Given the description of an element on the screen output the (x, y) to click on. 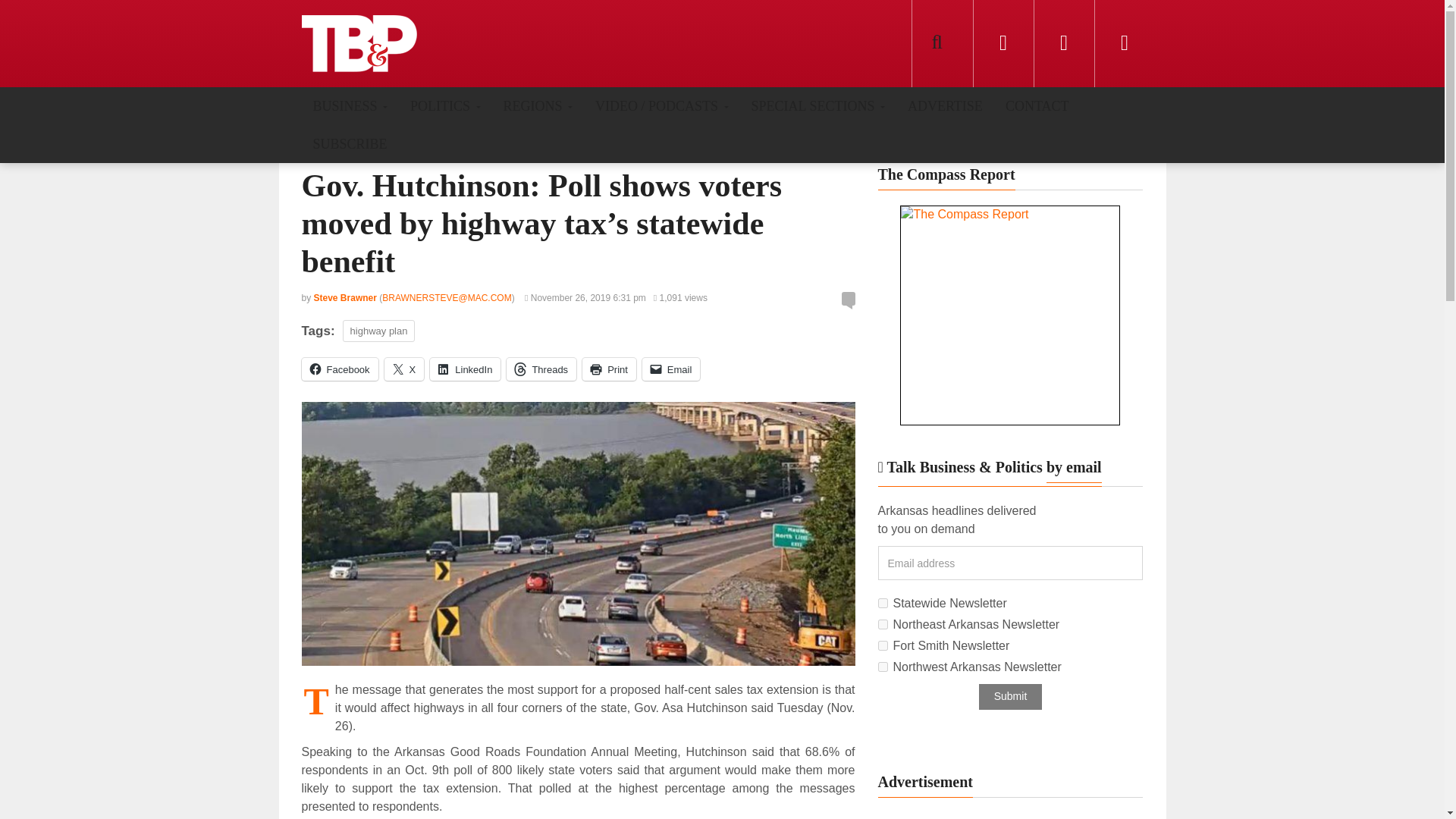
Click to share on X (404, 368)
Click to share on Facebook (339, 368)
Click to print (609, 368)
Click to email a link to a friend (671, 368)
536baa6e11 (882, 666)
Click to share on LinkedIn (464, 368)
0dbc242577 (882, 624)
BUSINESS (349, 105)
Click to share on Threads (541, 368)
a8cb0d3206 (882, 603)
